Given the description of an element on the screen output the (x, y) to click on. 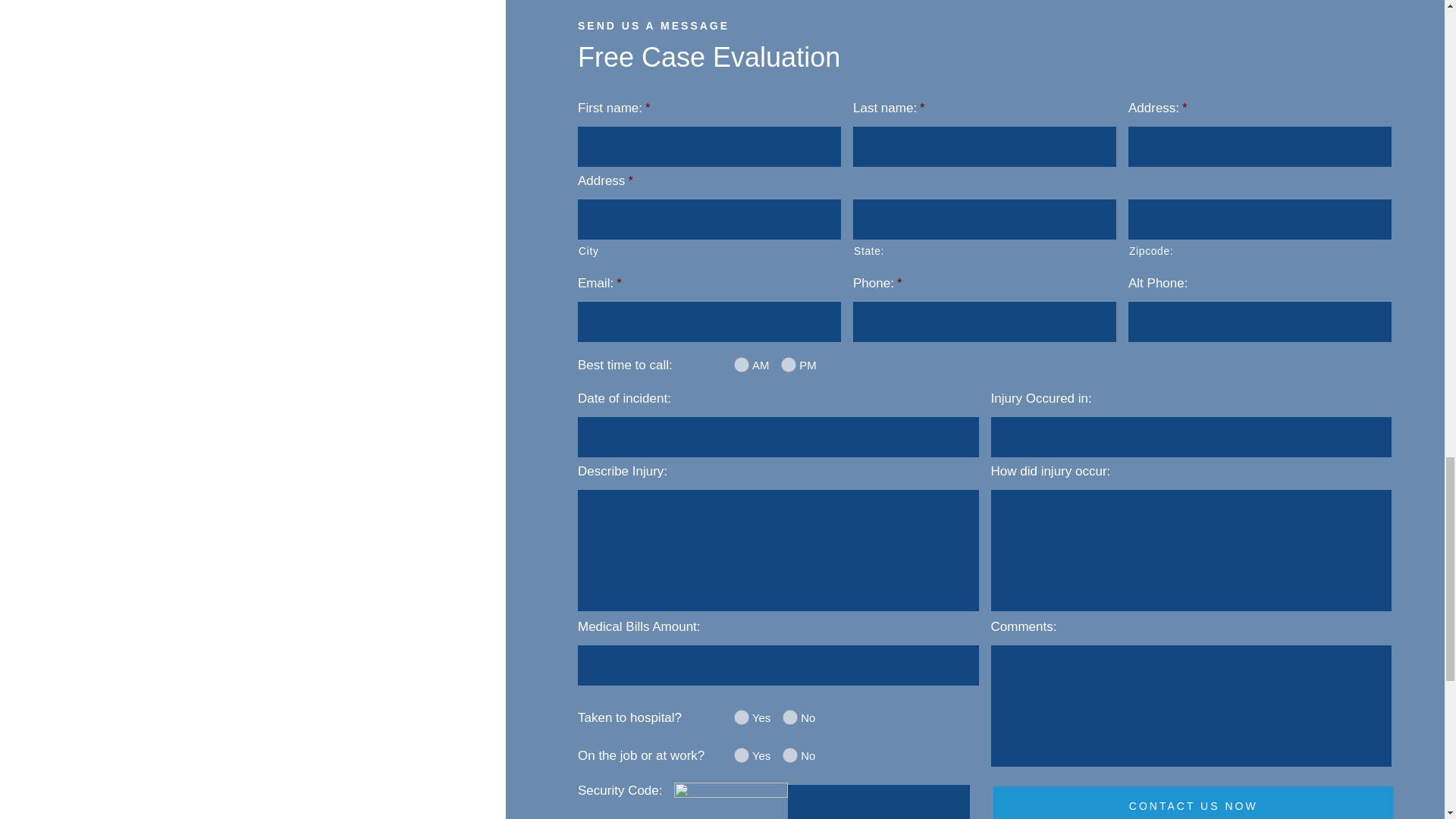
Yes (741, 717)
No (790, 754)
PM (788, 364)
No (790, 717)
Contact Us Now (1193, 802)
AM (741, 364)
Yes (741, 754)
